Given the description of an element on the screen output the (x, y) to click on. 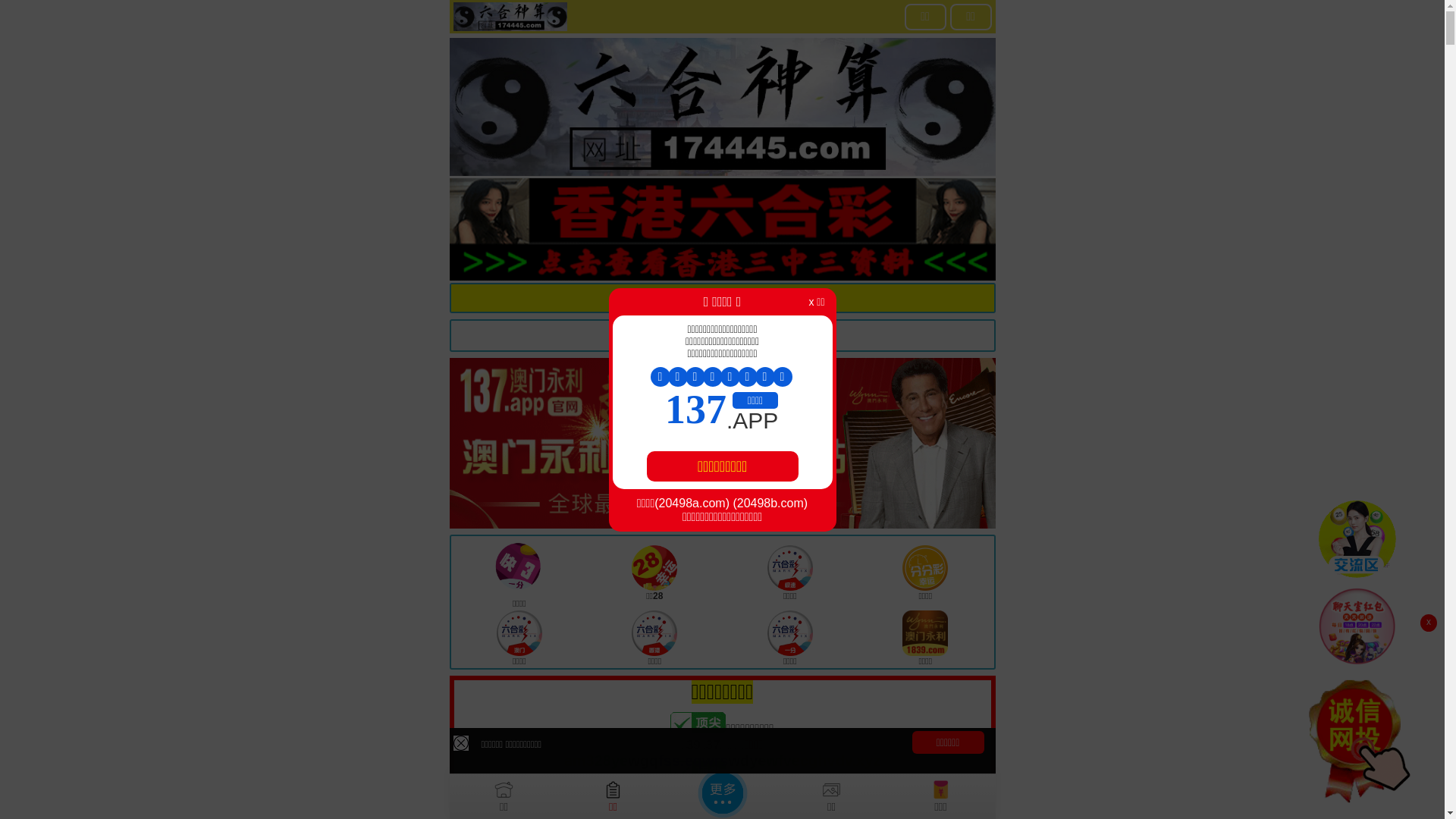
x Element type: text (1428, 622)
